Given the description of an element on the screen output the (x, y) to click on. 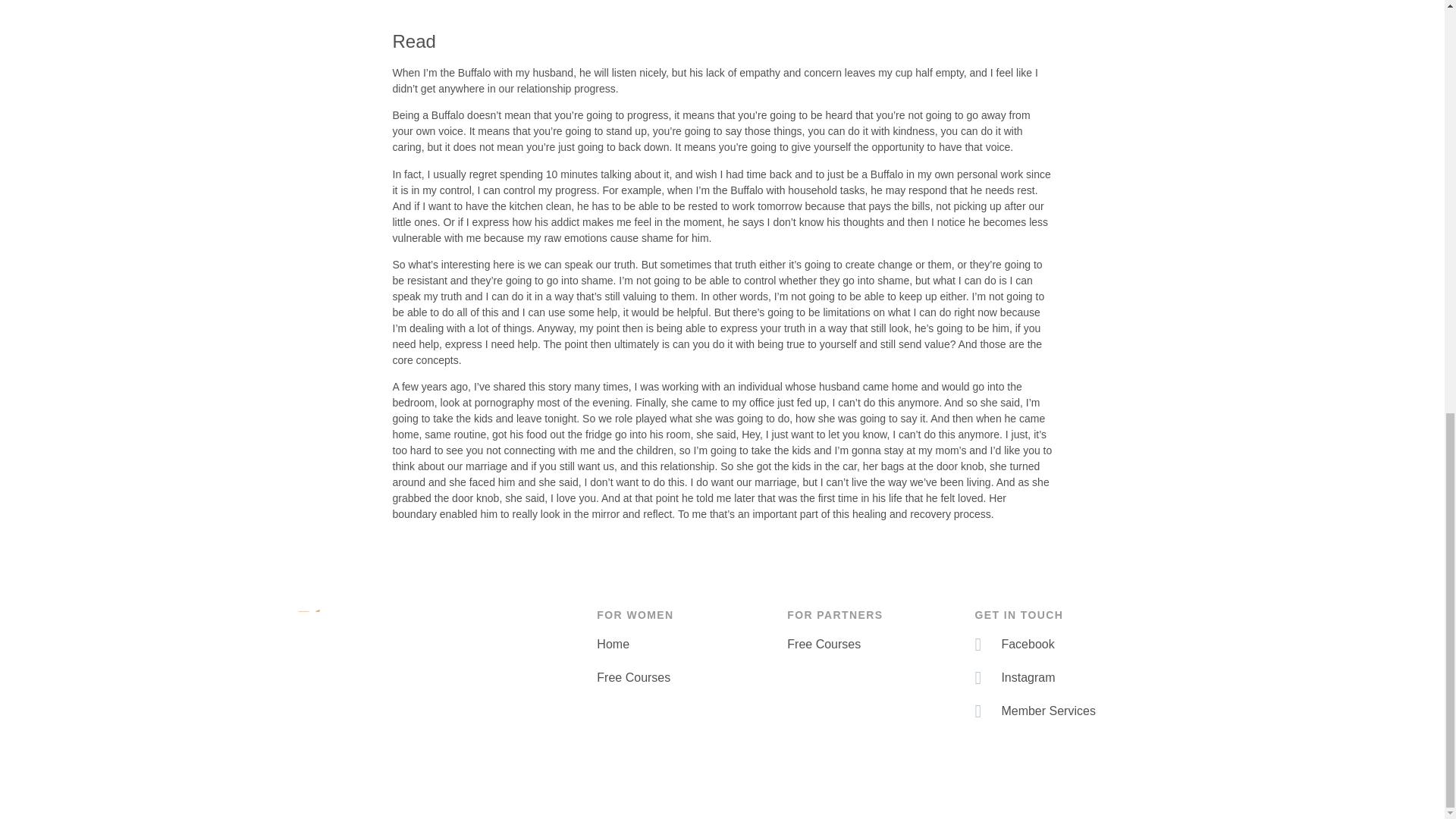
Home (683, 644)
Instagram (1060, 678)
Facebook (1060, 644)
Member Services (1060, 710)
Free Courses (873, 644)
Free Courses (683, 678)
